Given the description of an element on the screen output the (x, y) to click on. 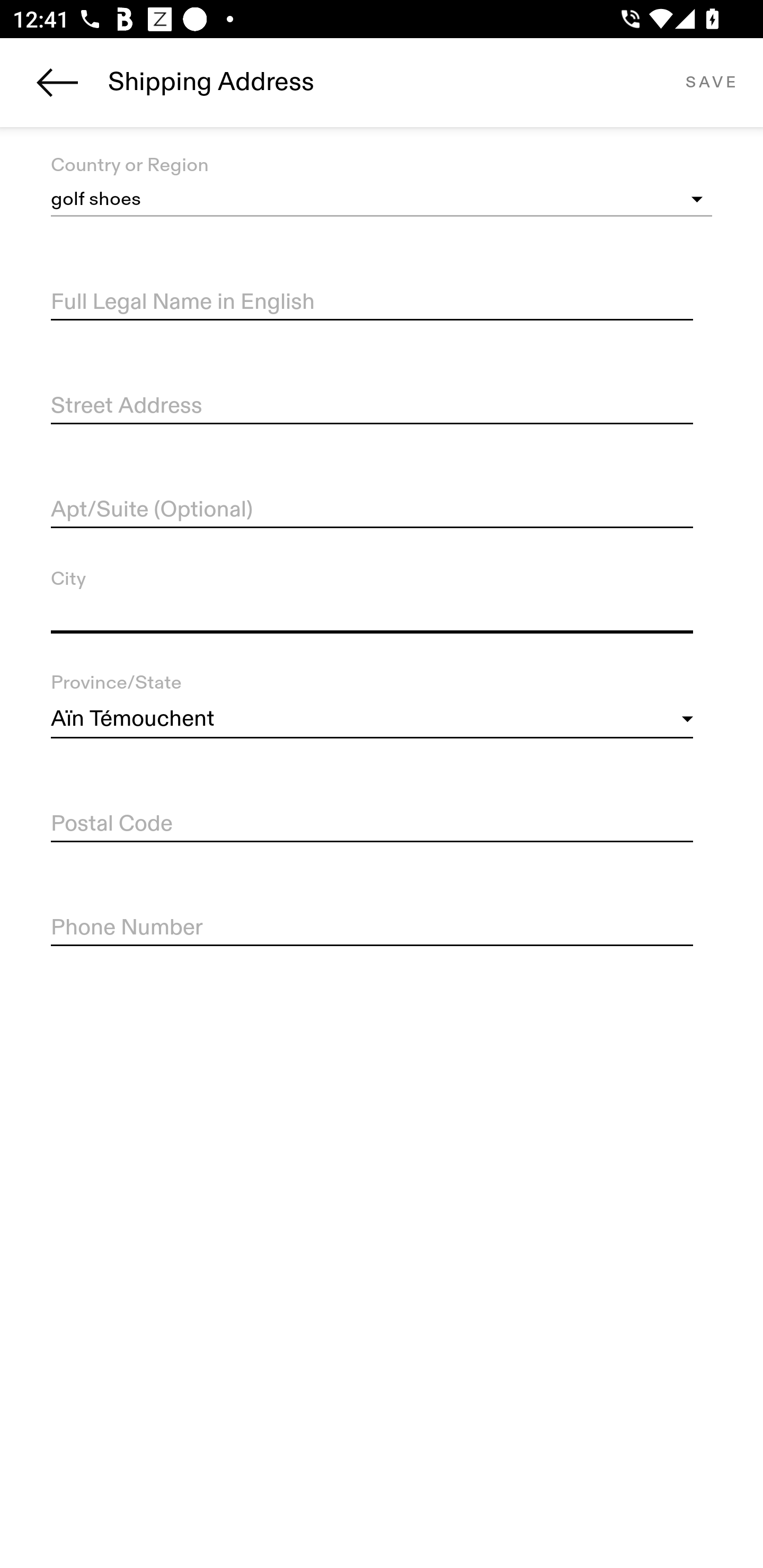
Navigate up (56, 82)
SAVE (710, 81)
golf shoes (381, 199)
Full Legal Name in English (371, 302)
Street Address (371, 406)
Apt/Suite (Optional) (371, 509)
City (371, 614)
Aïn Témouchent (371, 719)
Postal Code (371, 824)
Phone Number (371, 928)
